Given the description of an element on the screen output the (x, y) to click on. 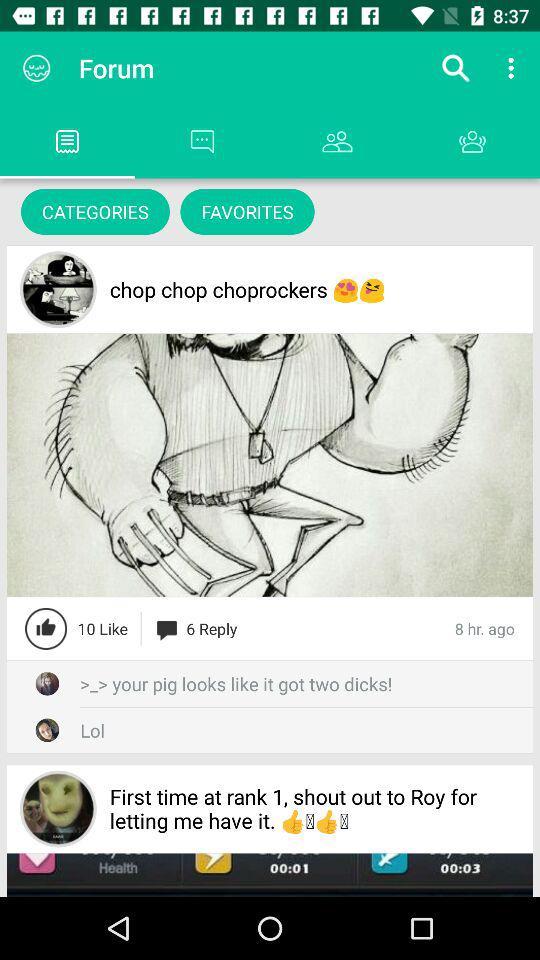
tap the app to the right of the forum (455, 67)
